Given the description of an element on the screen output the (x, y) to click on. 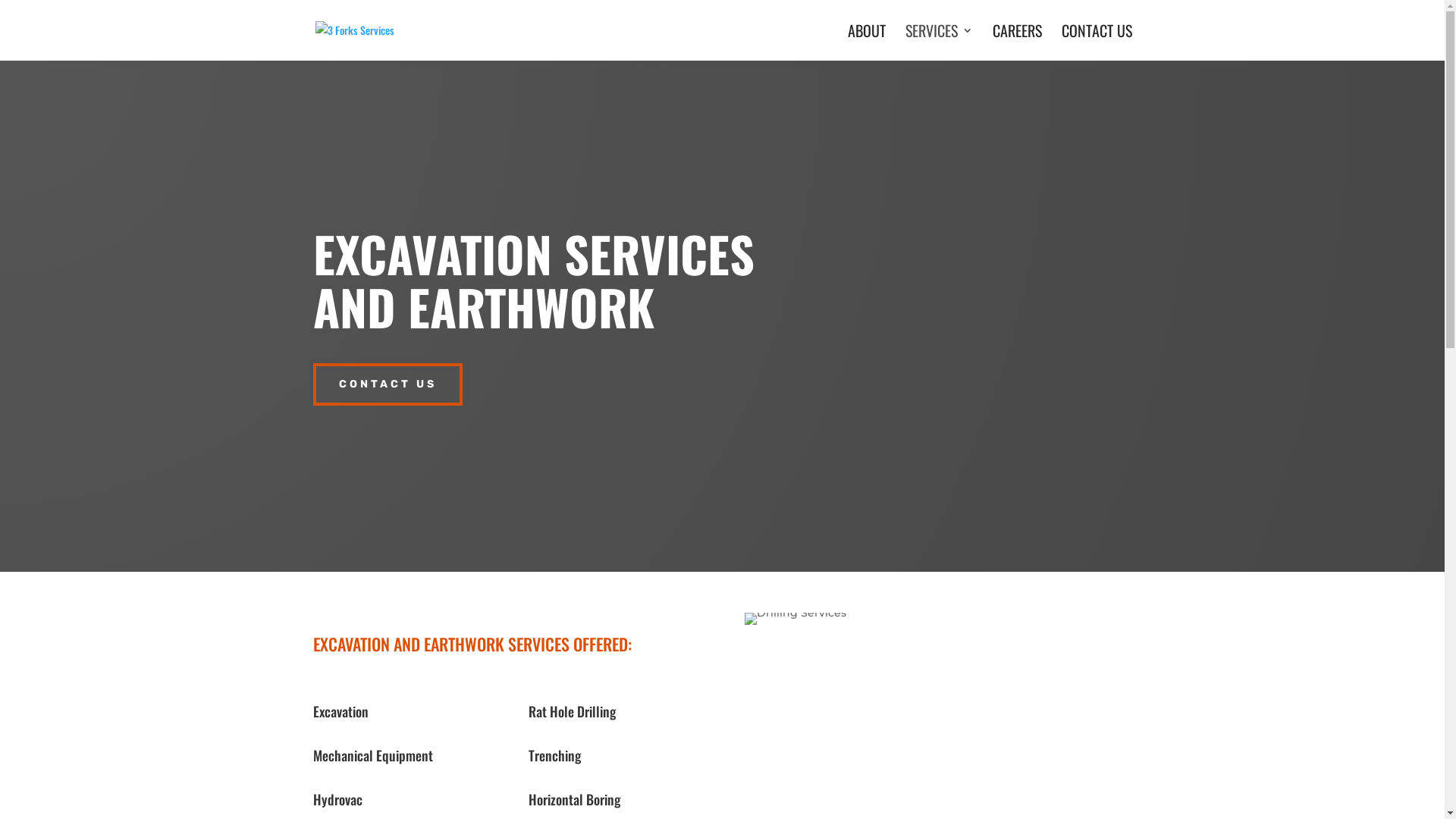
ABOUT Element type: text (866, 42)
CONTACT US Element type: text (386, 384)
SERVICES Element type: text (938, 42)
DSC02190 Element type: hover (795, 618)
CAREERS Element type: text (1016, 42)
CONTACT US Element type: text (1096, 42)
